Given the description of an element on the screen output the (x, y) to click on. 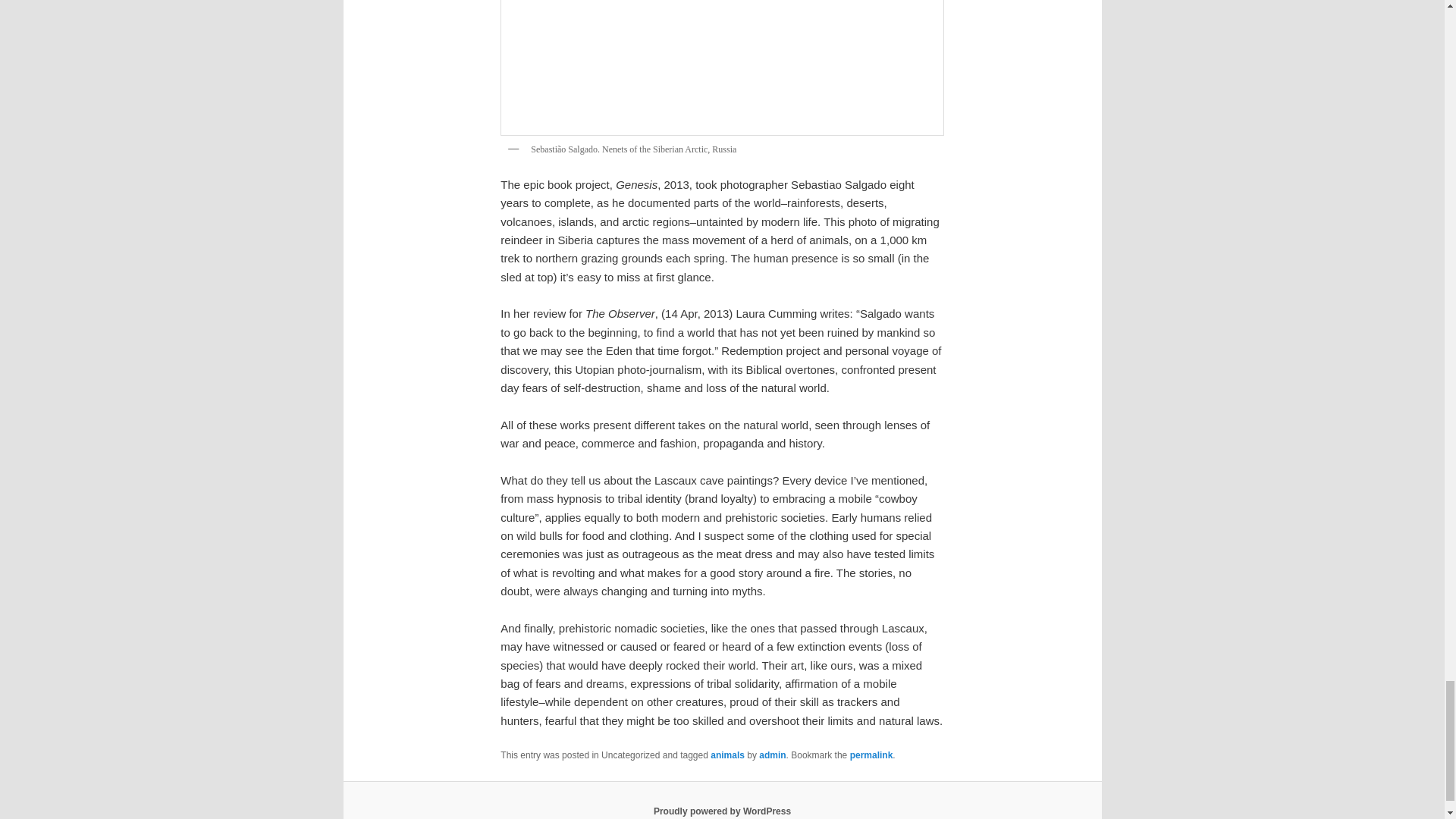
Semantic Personal Publishing Platform (721, 810)
Permalink to Follow the Herd (871, 755)
animals (727, 755)
admin (772, 755)
Proudly powered by WordPress (721, 810)
permalink (871, 755)
